Given the description of an element on the screen output the (x, y) to click on. 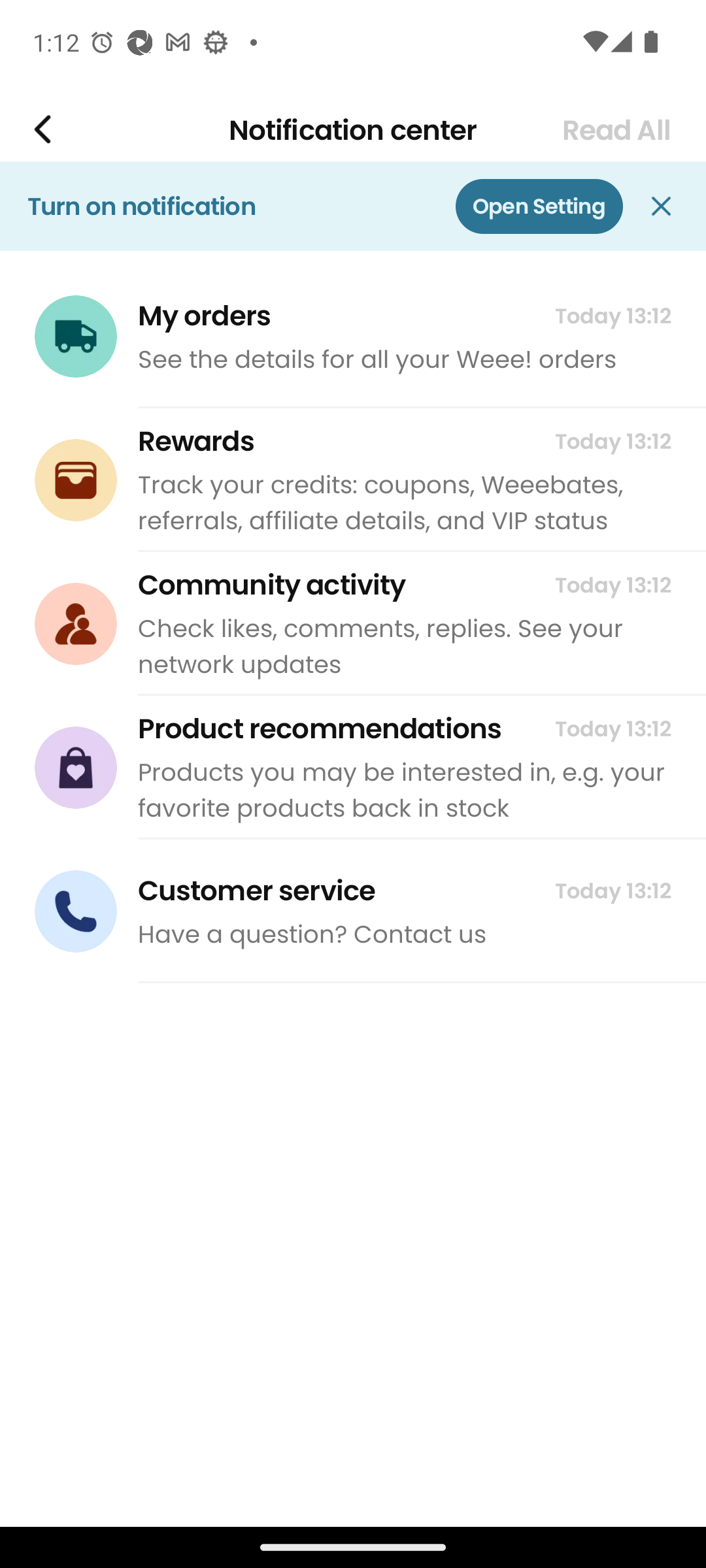
Read All (616, 129)
Open Setting (538, 205)
See the details for all your Weee! orders (404, 358)
Have a question? Contact us (404, 934)
